Given the description of an element on the screen output the (x, y) to click on. 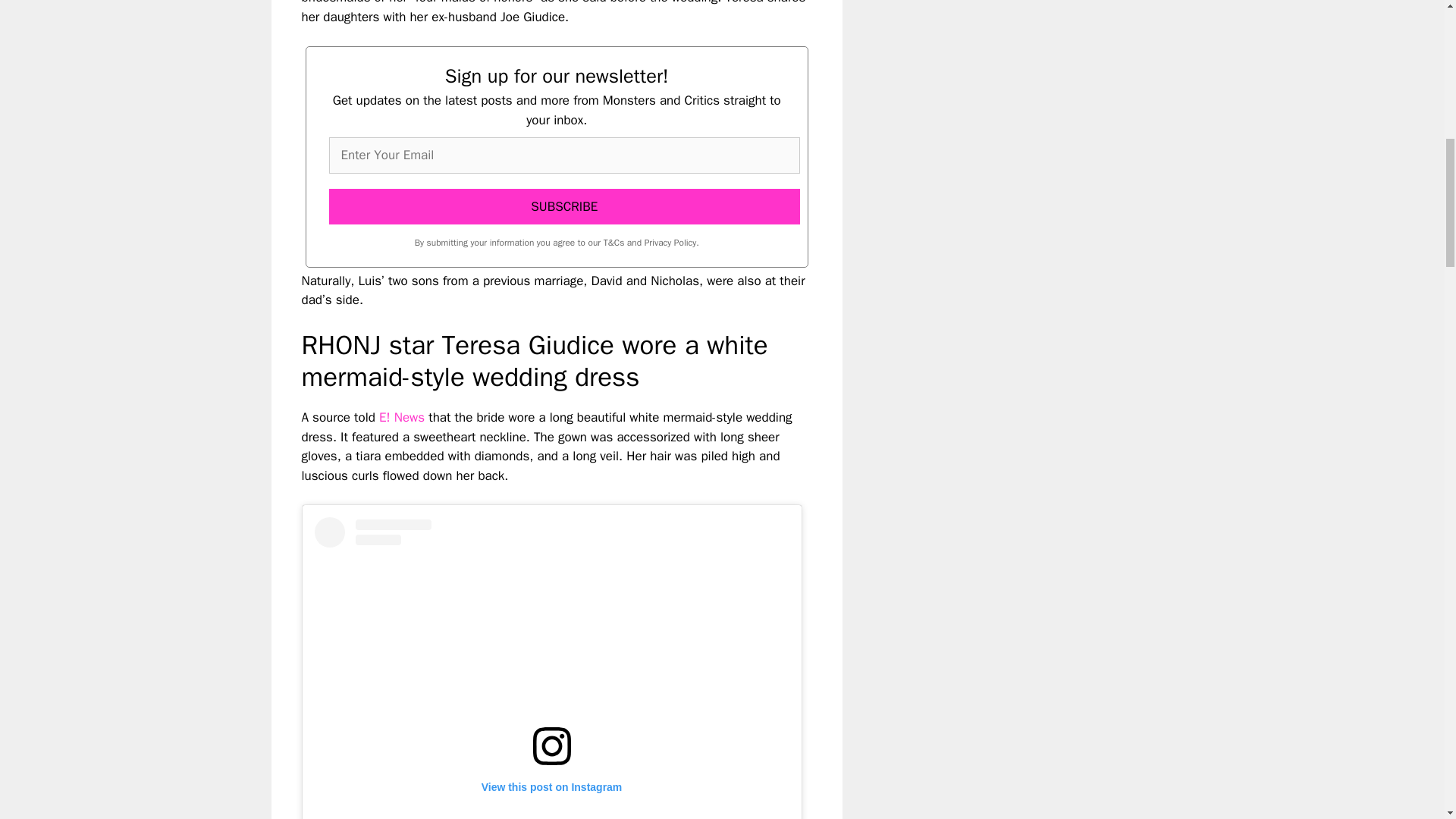
E! News (401, 417)
SUBSCRIBE (564, 207)
SUBSCRIBE (564, 207)
